Given the description of an element on the screen output the (x, y) to click on. 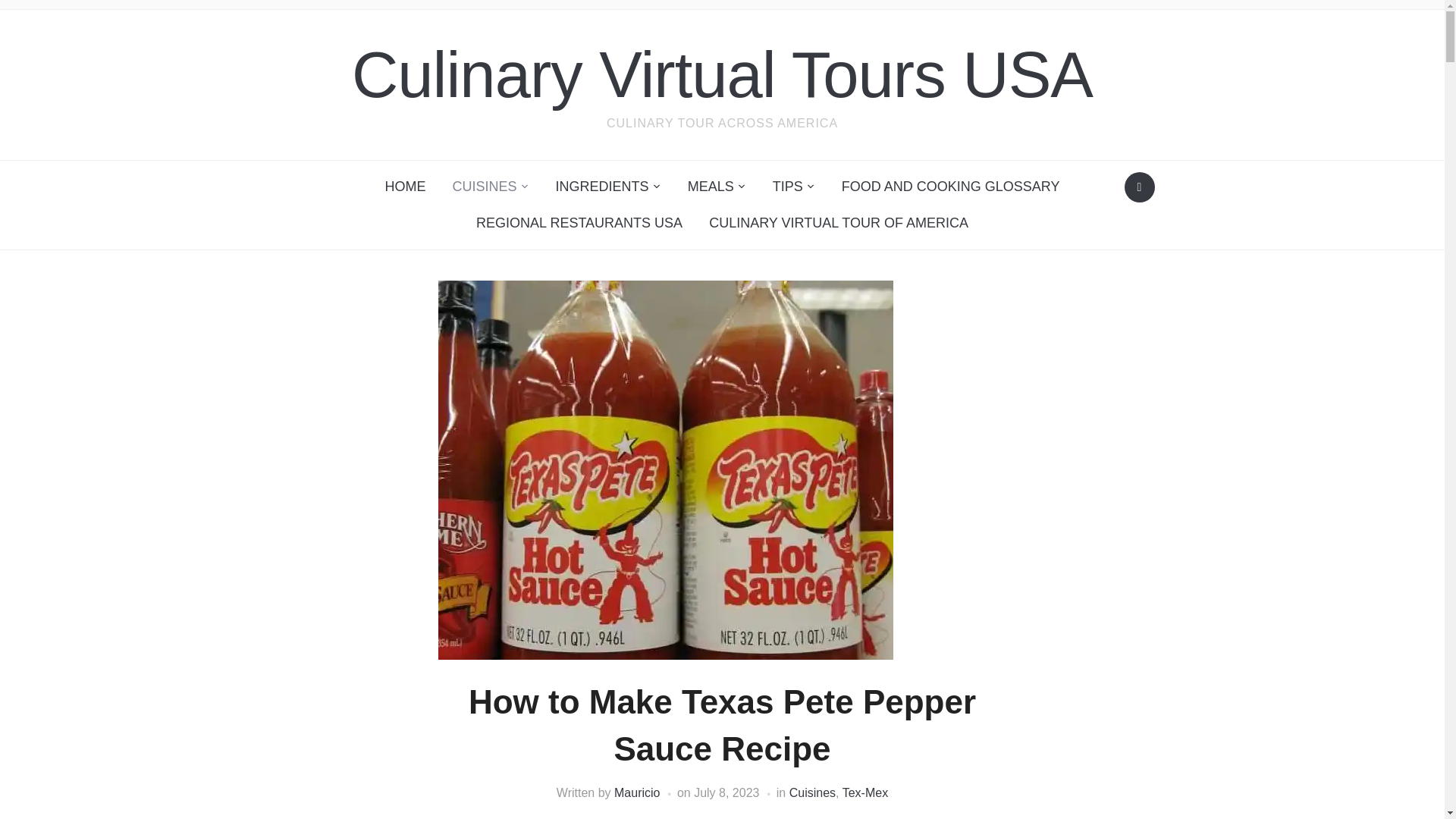
Search (1139, 186)
Culinary Virtual Tours USA (722, 74)
Posts by Mauricio (636, 792)
Culinary Tour Across America (722, 74)
